Given the description of an element on the screen output the (x, y) to click on. 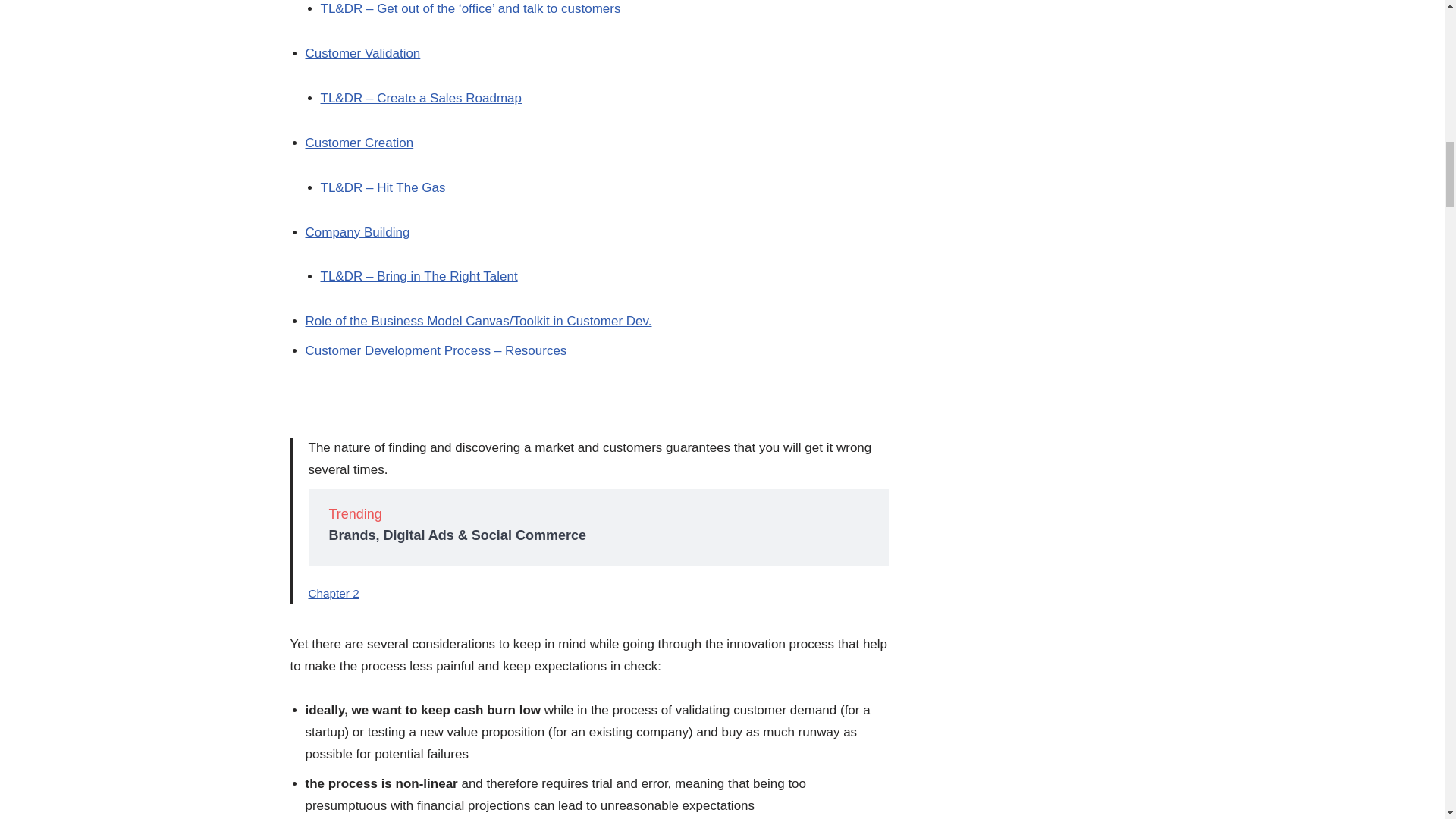
Chapter 2 (332, 593)
